Given the description of an element on the screen output the (x, y) to click on. 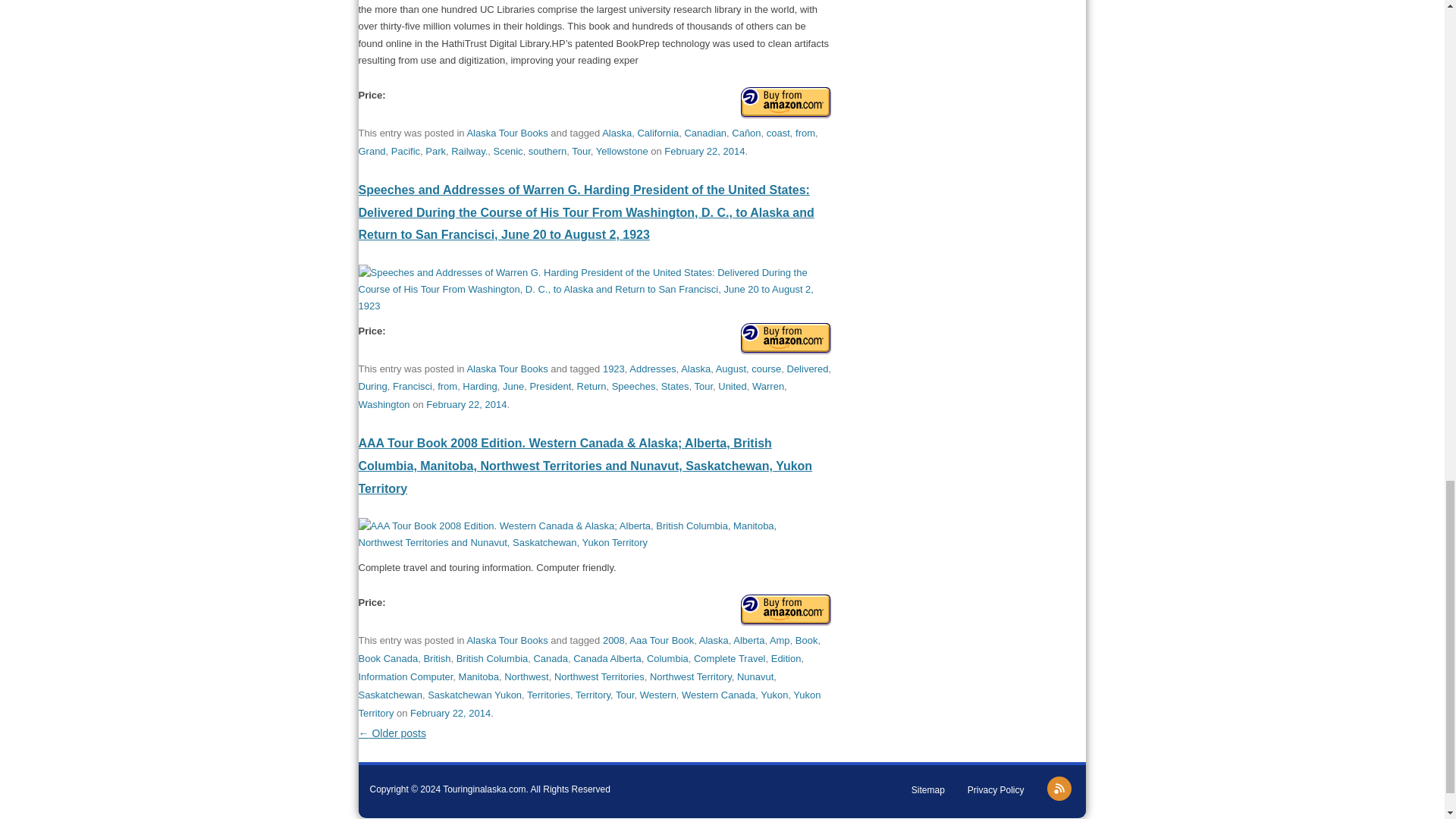
6:26 pm (450, 713)
10:03 pm (466, 404)
10:48 pm (703, 151)
